Given the description of an element on the screen output the (x, y) to click on. 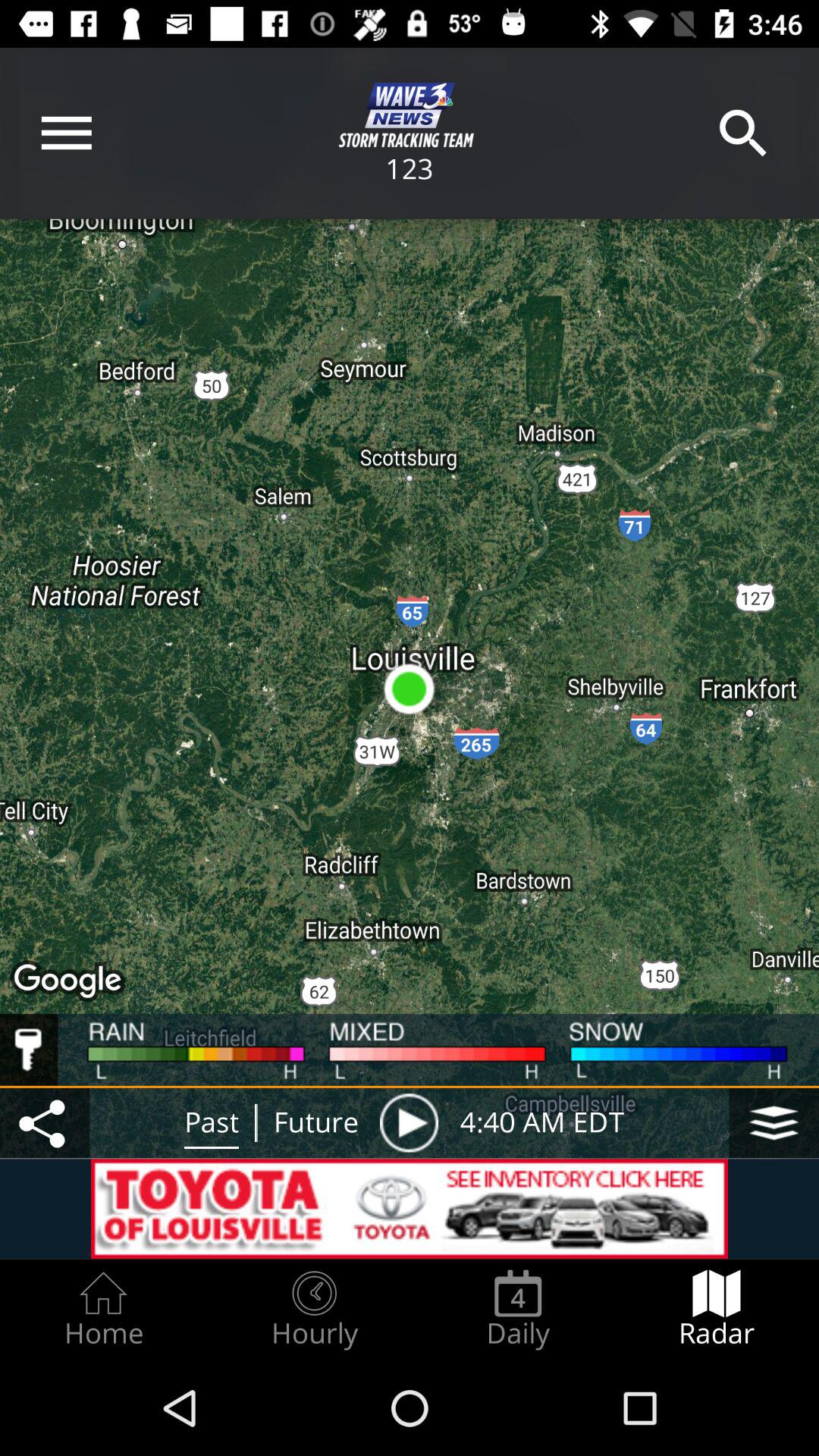
choose item next to future (409, 1122)
